Given the description of an element on the screen output the (x, y) to click on. 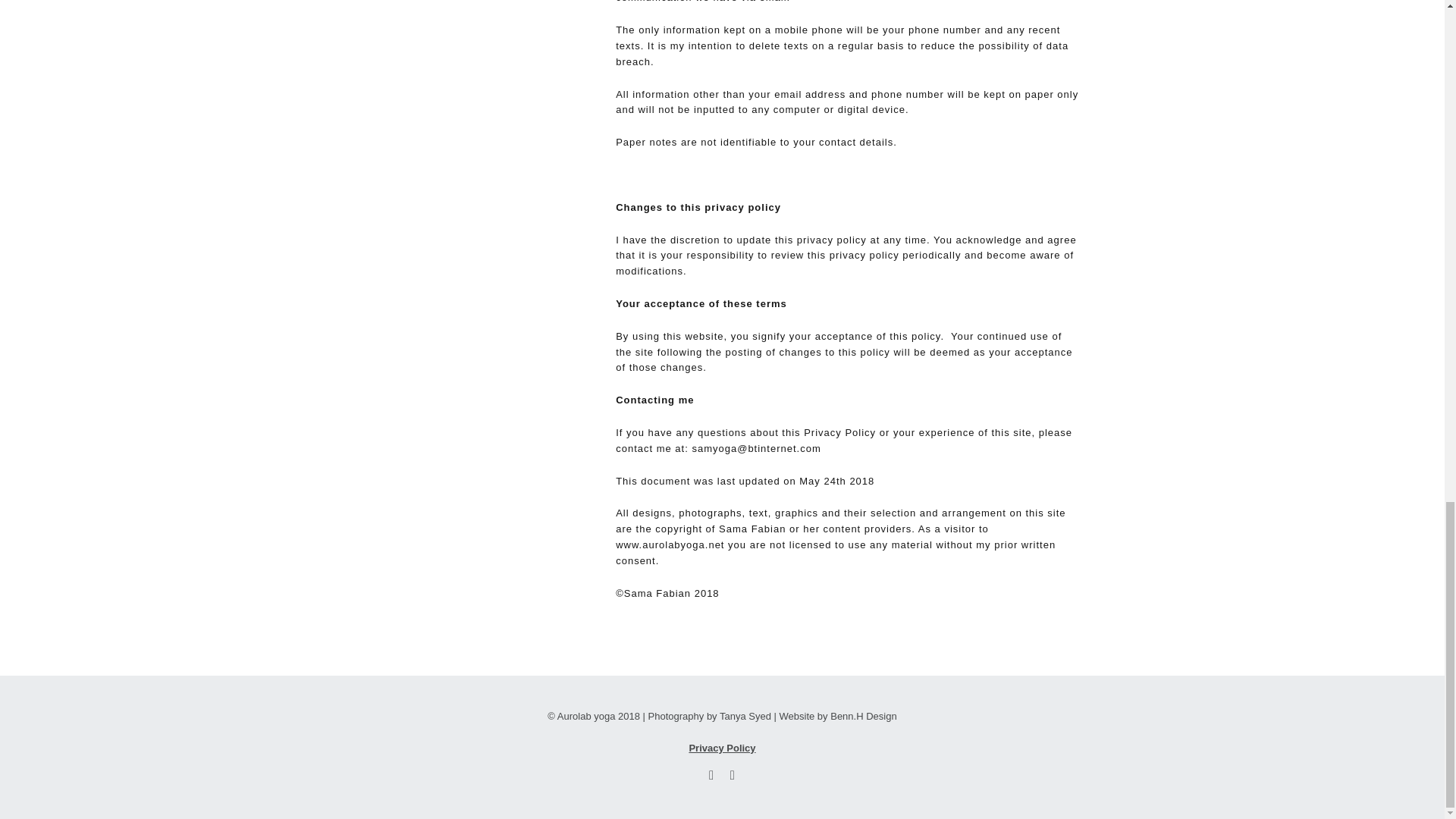
Privacy Policy (721, 747)
